Given the description of an element on the screen output the (x, y) to click on. 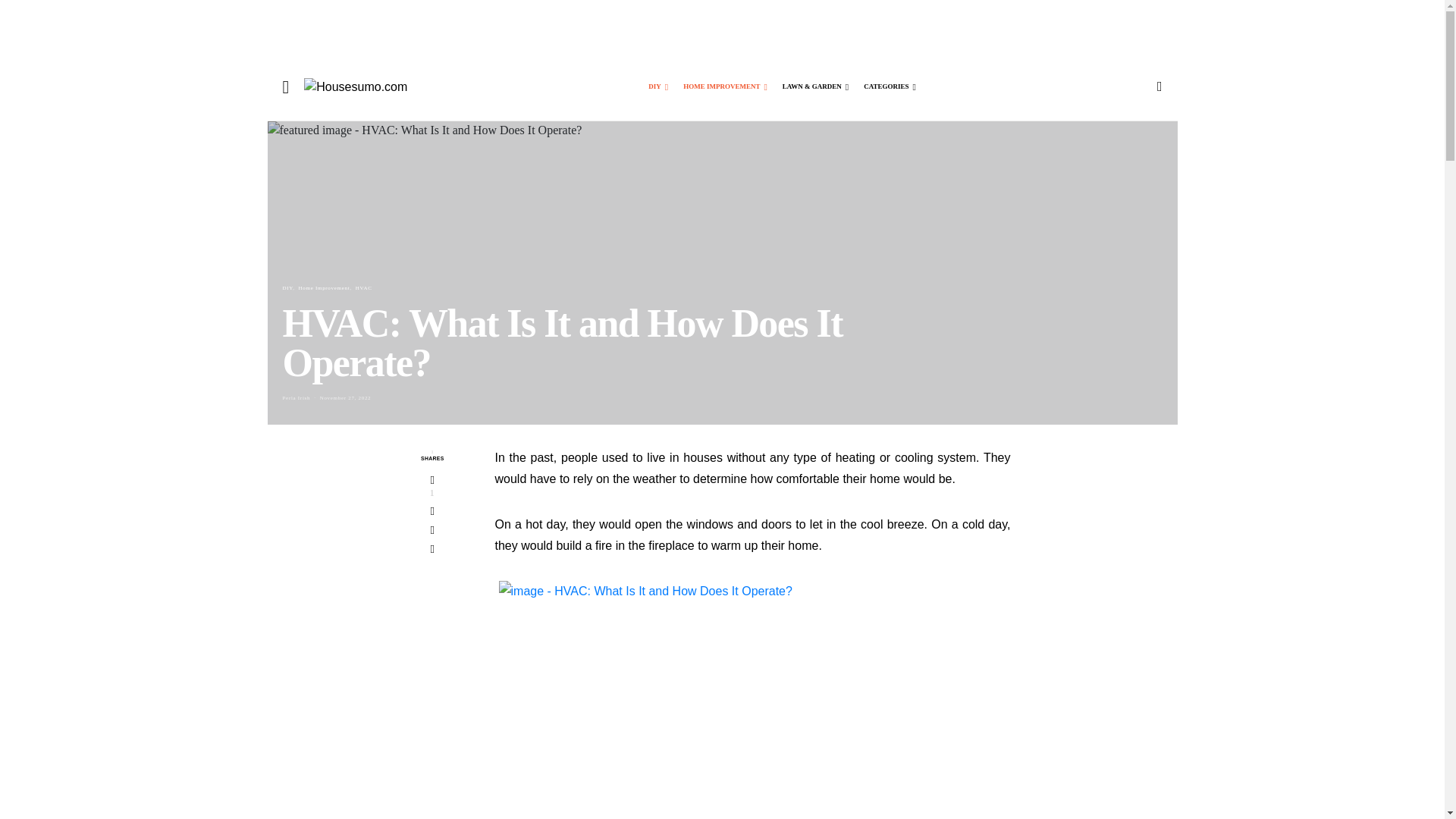
DIY (657, 86)
View all posts by Perla Irish (296, 396)
HVAC: What Is It and How Does It Operate? (753, 699)
